Given the description of an element on the screen output the (x, y) to click on. 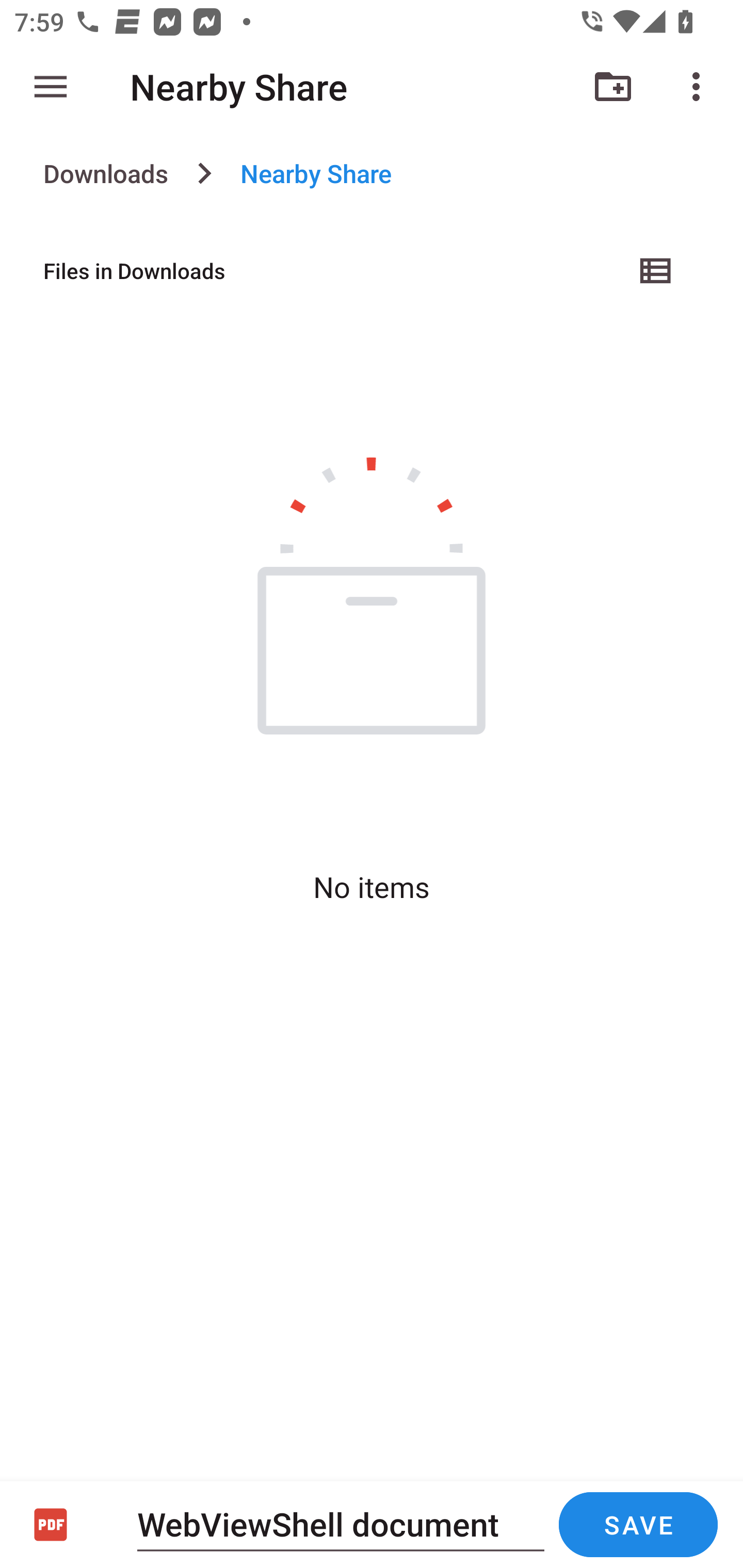
Show roots (50, 86)
New folder (612, 86)
More options (699, 86)
List view (655, 270)
SAVE (637, 1524)
WebViewShell document (340, 1523)
